Given the description of an element on the screen output the (x, y) to click on. 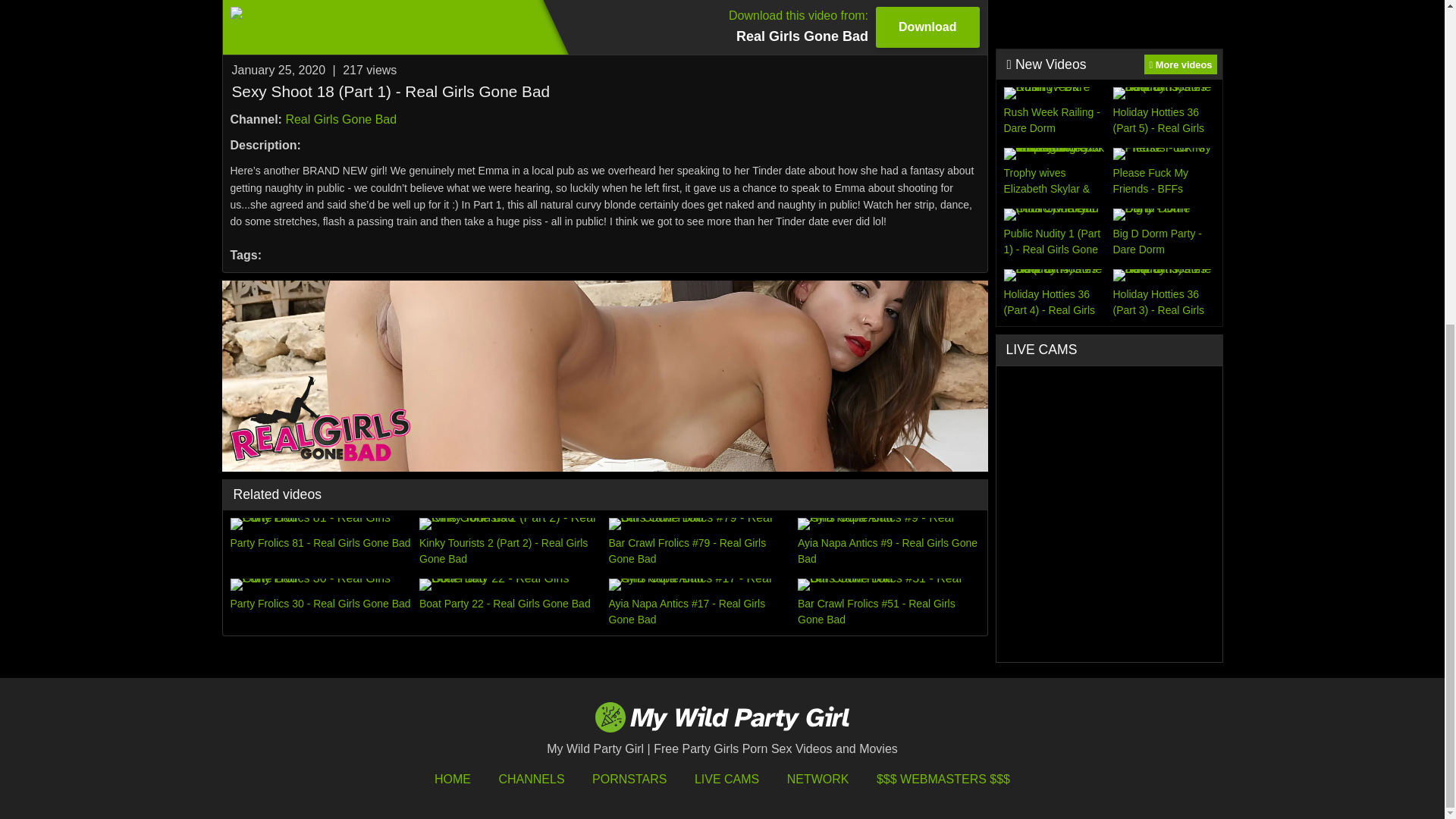
Real Girls Gone Bad (340, 119)
More videos (1179, 64)
Party Frolics 30 - Real Girls Gone Bad (321, 603)
Boat Party 22 - Real Girls Gone Bad (510, 603)
Party Frolics 81 - Real Girls Gone Bad (604, 27)
Rush Week Railing - Dare Dorm (321, 542)
